Given the description of an element on the screen output the (x, y) to click on. 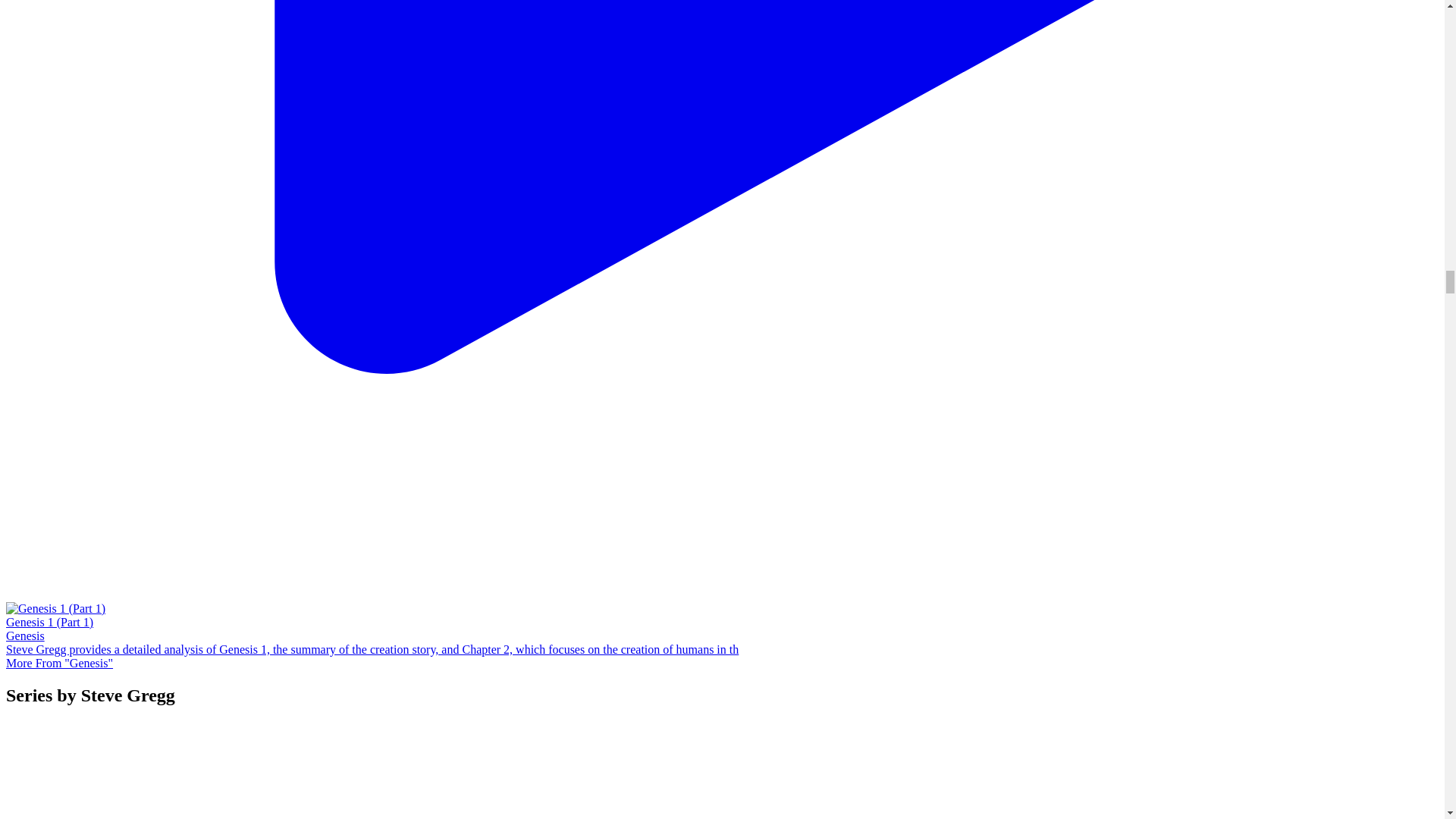
More From "Genesis" (59, 662)
